Given the description of an element on the screen output the (x, y) to click on. 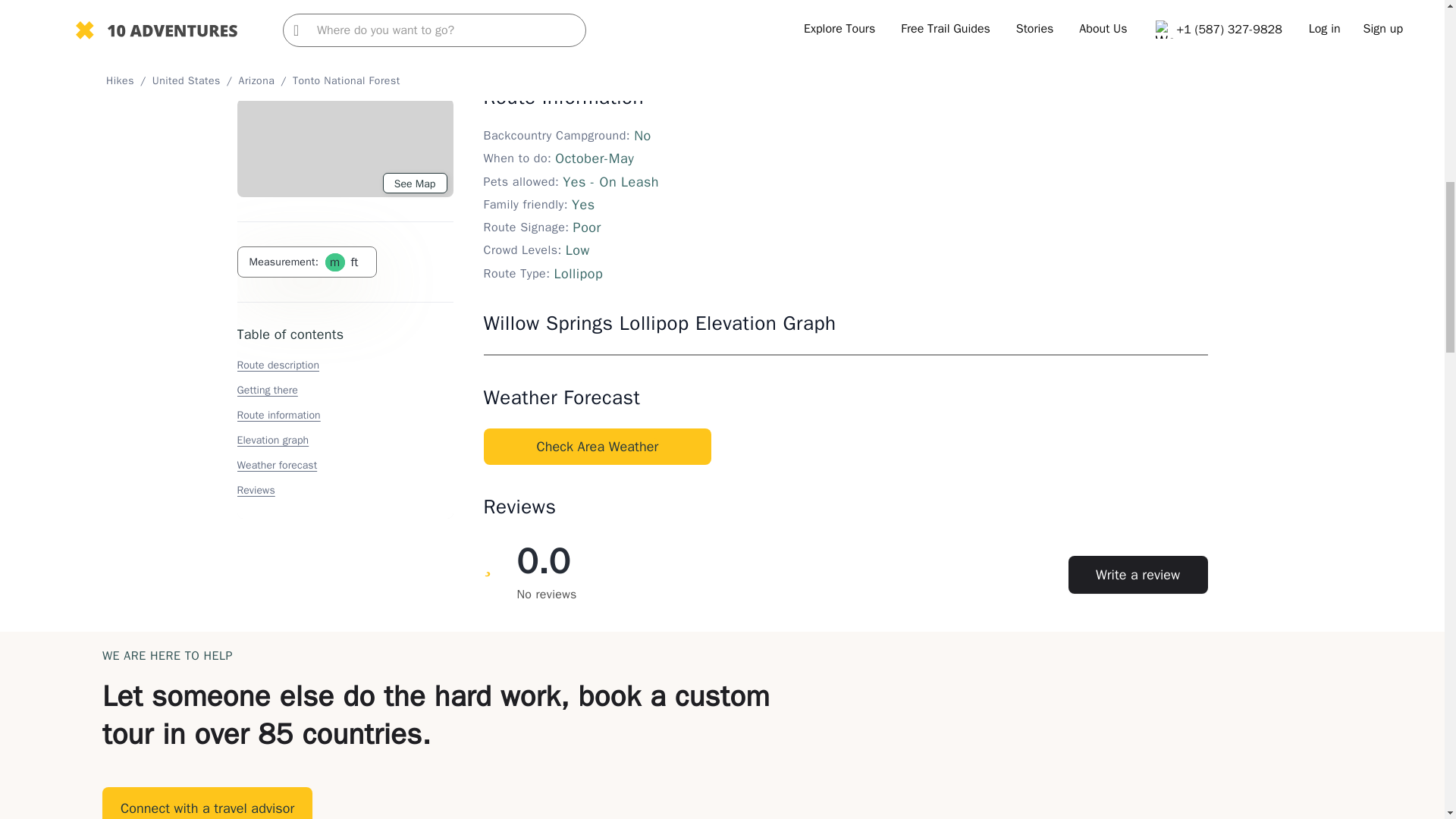
Weather forecast (276, 60)
Route information (277, 10)
Elevation graph (271, 35)
Reviews (255, 85)
